Given the description of an element on the screen output the (x, y) to click on. 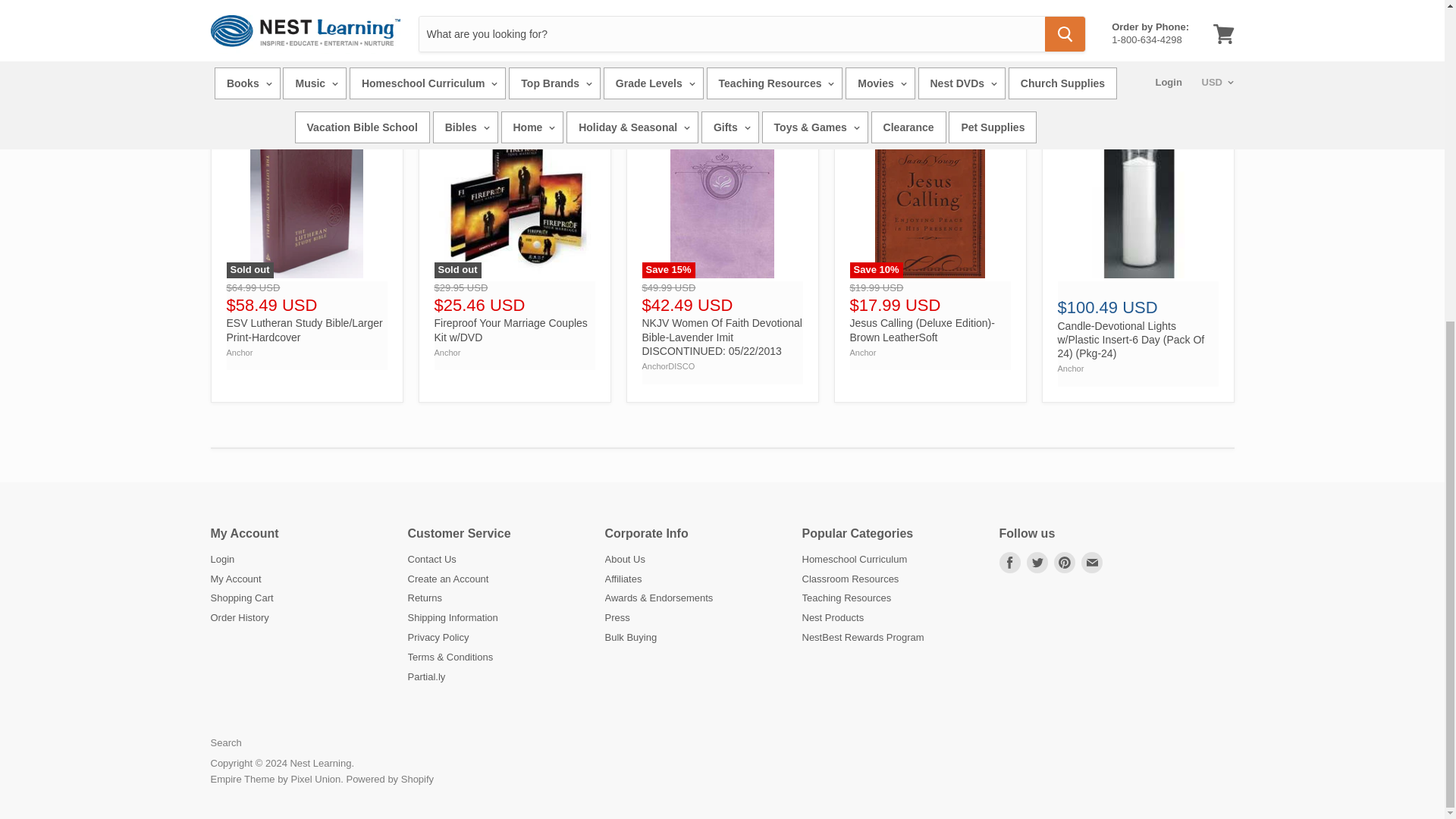
Twitter (1037, 562)
Pinterest (1064, 562)
E-mail (1091, 562)
Facebook (1009, 562)
